Given the description of an element on the screen output the (x, y) to click on. 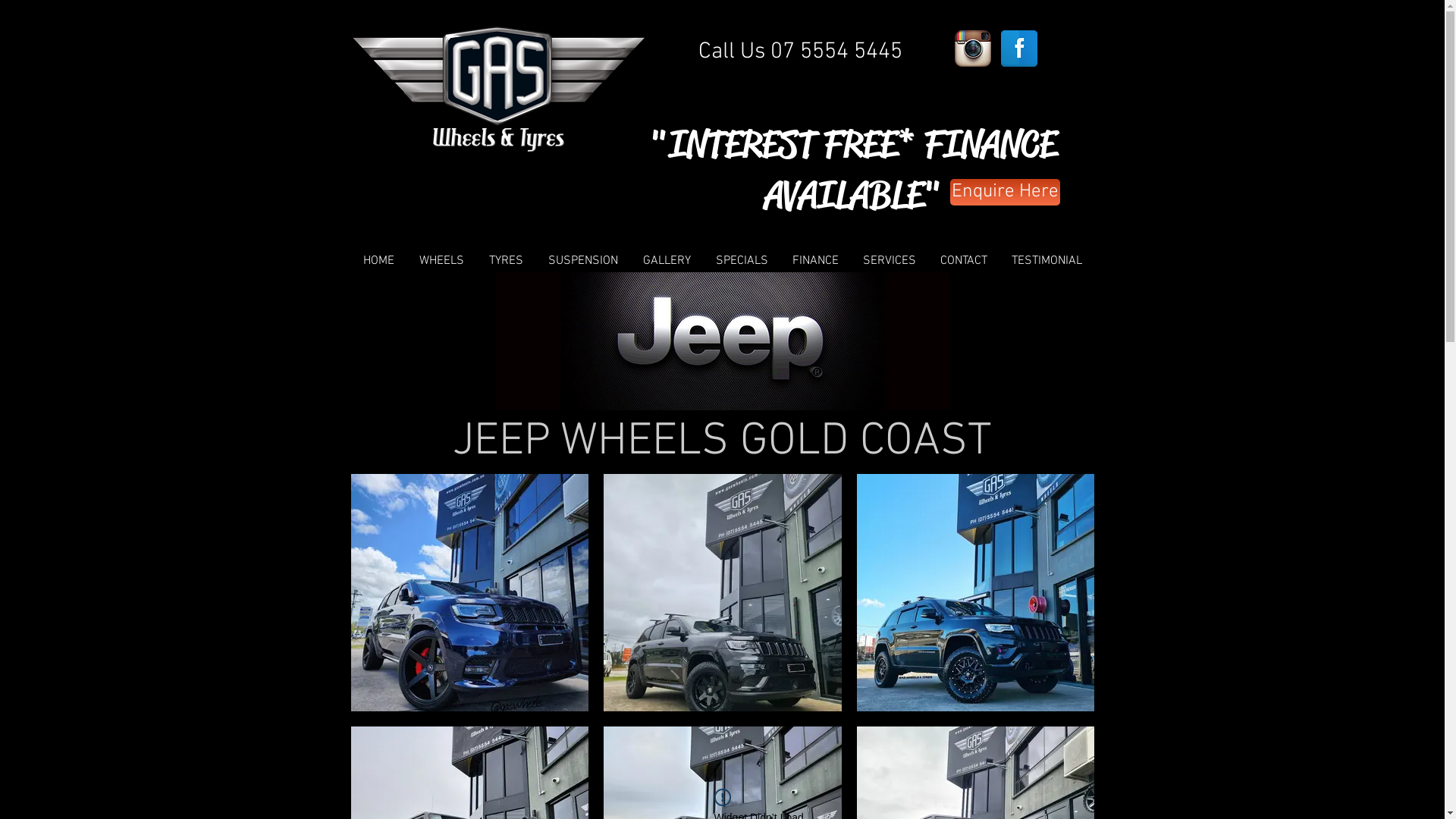
JEEP WHEELS GOLD COAST Element type: hover (721, 341)
GAS WHEELS & TYRES Element type: hover (498, 88)
Enquire Here Element type: text (1004, 191)
TESTIMONIAL Element type: text (1046, 260)
FINANCE Element type: text (814, 260)
SPECIALS Element type: text (741, 260)
HOME Element type: text (378, 260)
Call Us 07 5554 5445 Element type: text (799, 51)
CONTACT Element type: text (963, 260)
SERVICES Element type: text (889, 260)
